Given the description of an element on the screen output the (x, y) to click on. 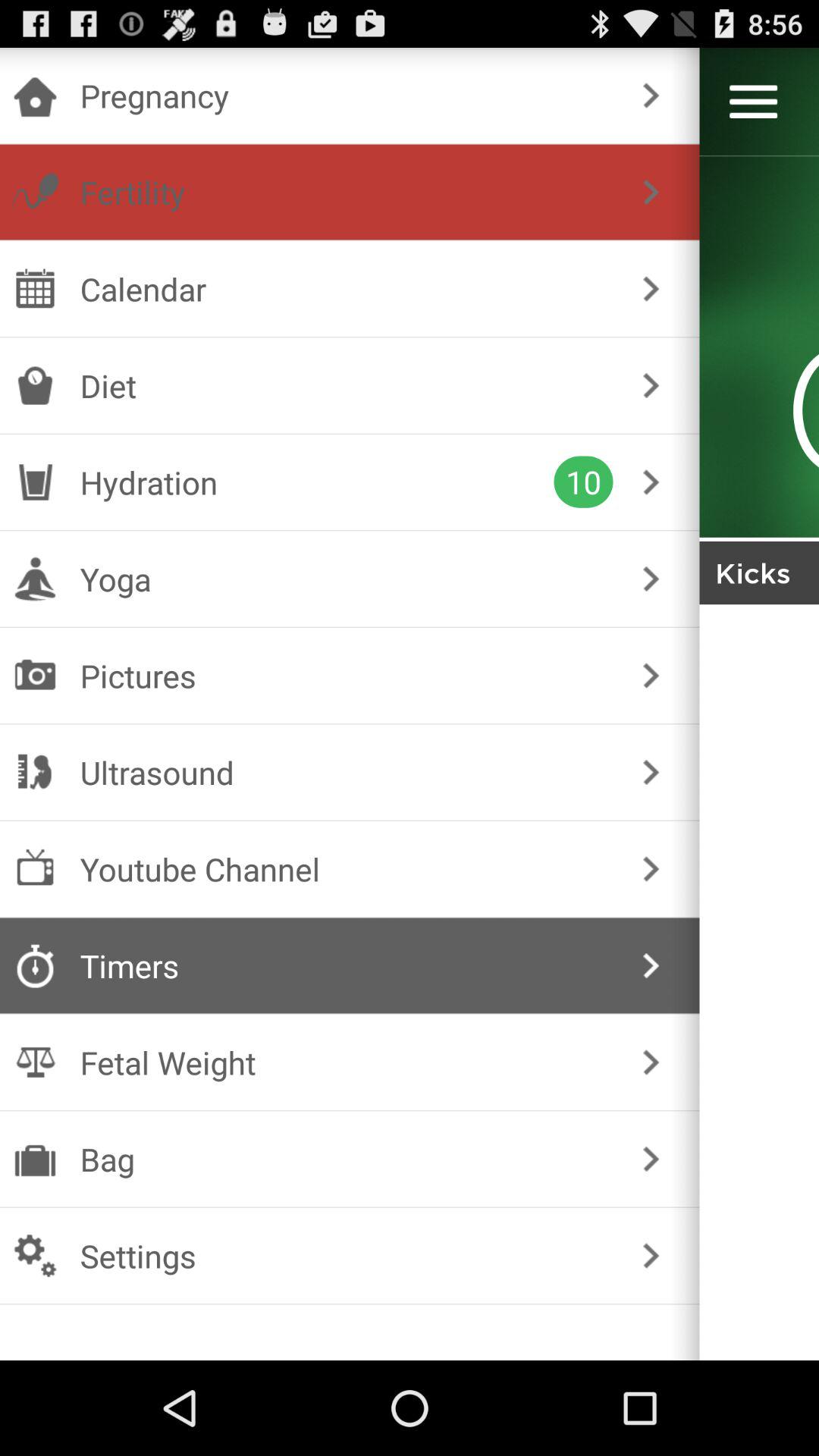
view menu options (753, 101)
